Given the description of an element on the screen output the (x, y) to click on. 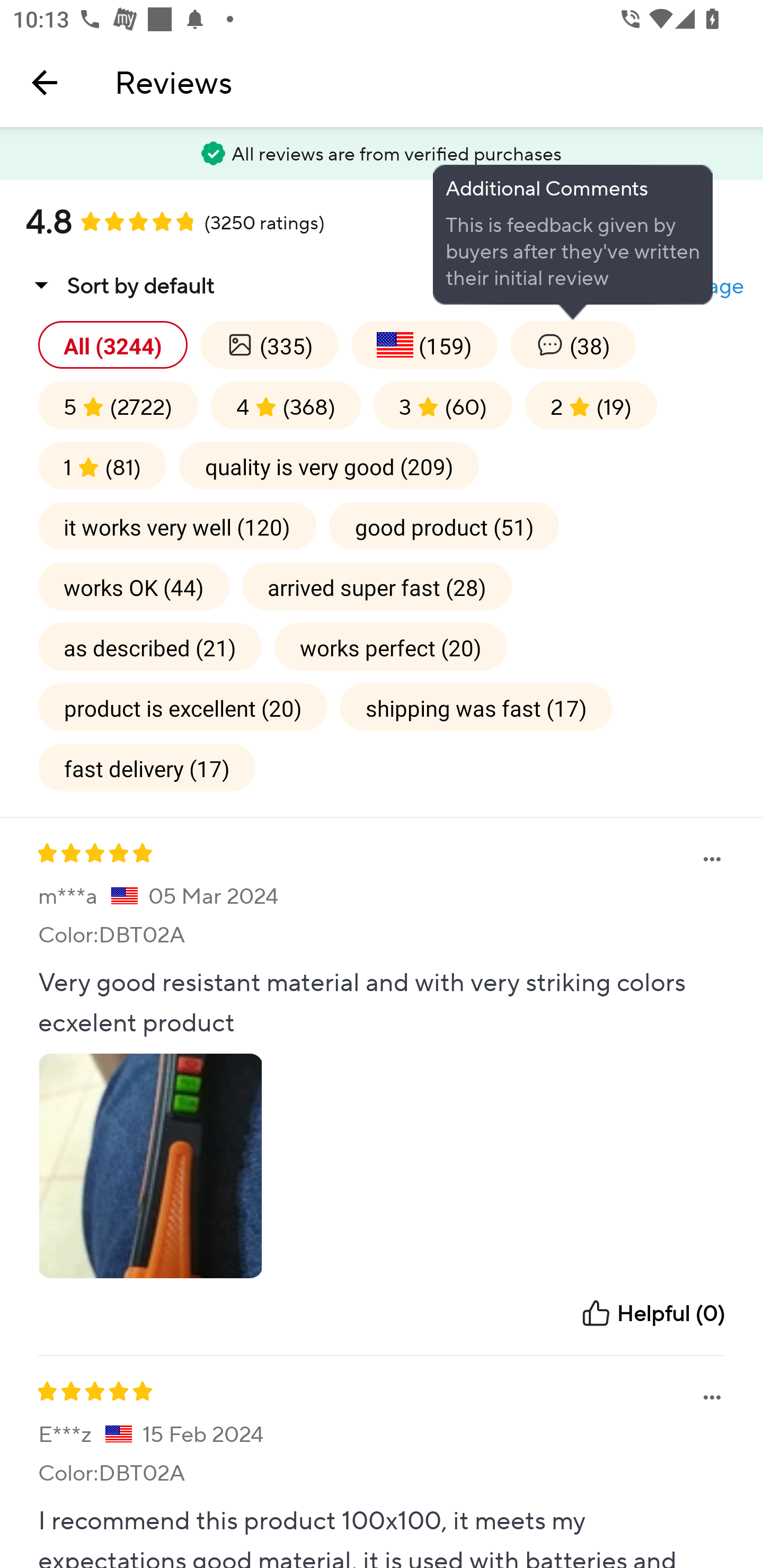
Navigate up (44, 82)
Sort by default (119, 285)
All (3244) (112, 344)
 (335) (268, 344)
 (159) (423, 344)
 (38) (572, 344)
5 (2722) (118, 405)
4 (368) (285, 405)
3 (60) (442, 405)
2 (19) (590, 405)
1 (81) (102, 465)
quality is very good (209) (329, 465)
it works very well (120) (177, 525)
good product (51) (443, 525)
works OK (44) (133, 585)
arrived super fast (28) (376, 585)
as described (21) (149, 646)
works perfect (20) (390, 646)
product is excellent (20) (182, 706)
shipping was fast (17) (476, 706)
fast delivery (17) (146, 767)
Helpful (0) (651, 1312)
